Given the description of an element on the screen output the (x, y) to click on. 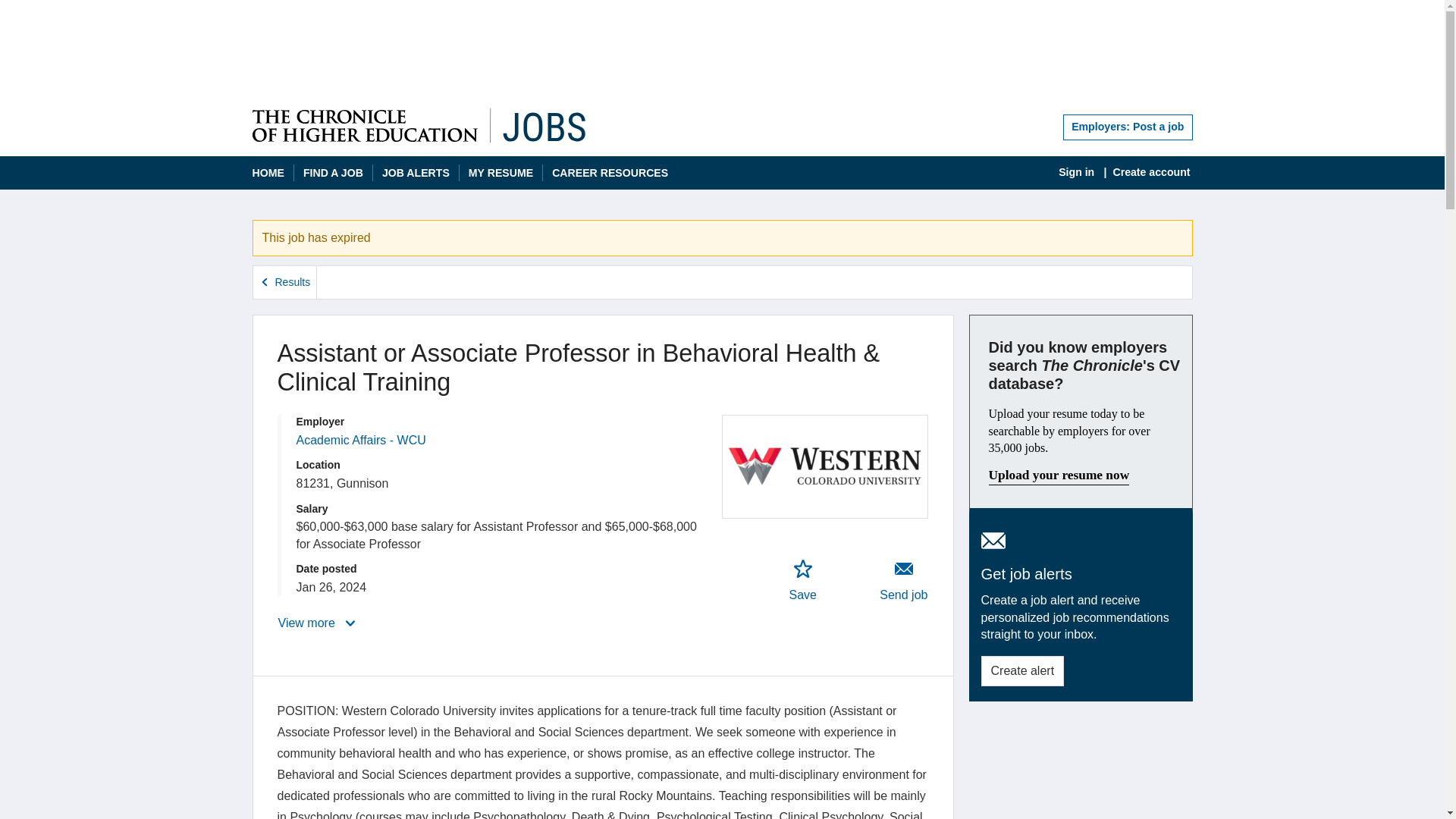
View more (318, 623)
Sign in (1076, 172)
Create account (1150, 172)
Academic Affairs - WCU (360, 440)
3rd party ad content (721, 49)
Results (285, 282)
JOB ALERTS (415, 173)
The Chronicle of Higher Education Jobs (418, 125)
Create alert (1022, 671)
FIND A JOB (332, 173)
Employers: Post a job (1127, 127)
HOME (267, 173)
